Given the description of an element on the screen output the (x, y) to click on. 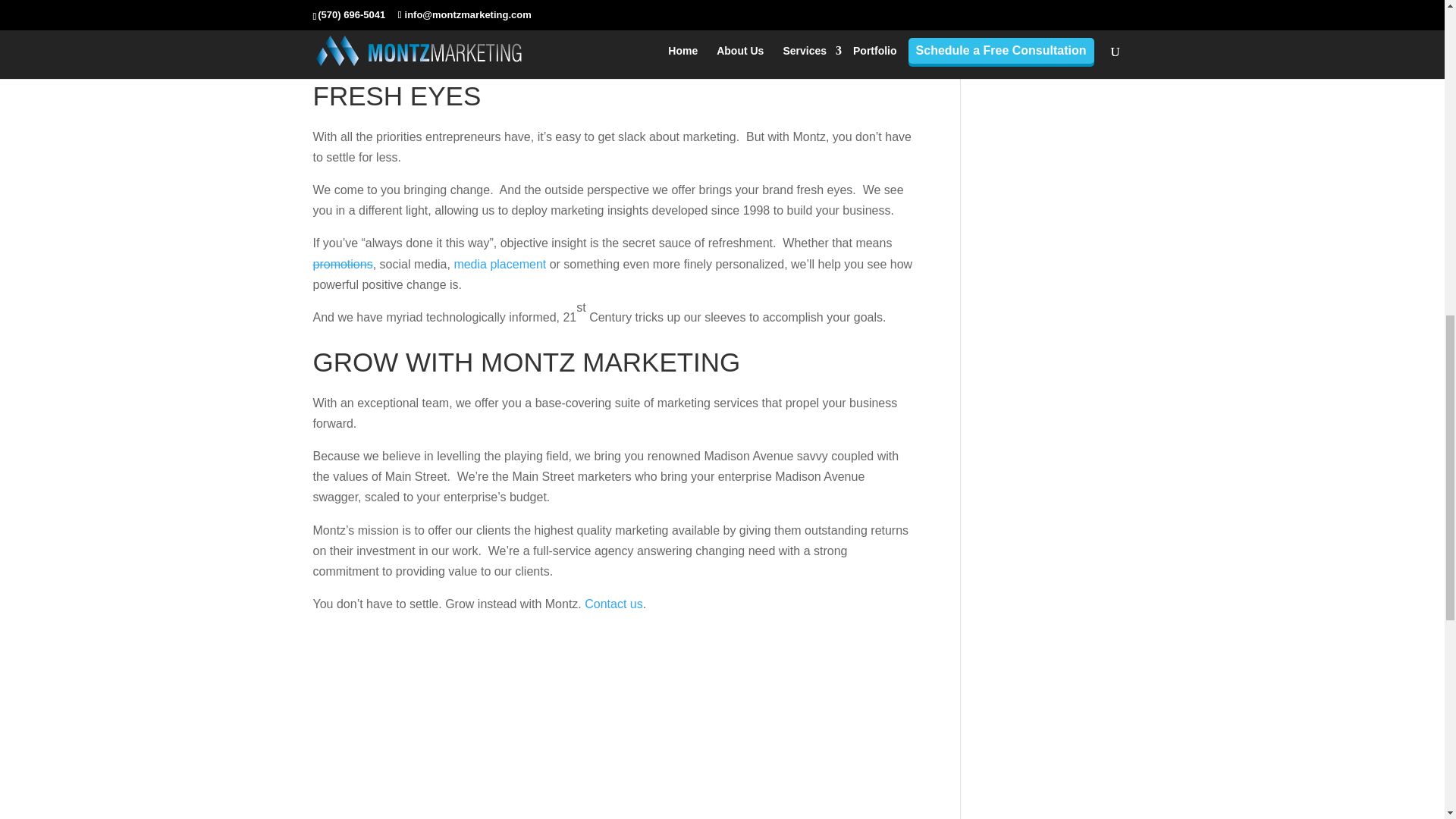
promotions (342, 264)
media placement (499, 264)
Contact us (613, 603)
